Given the description of an element on the screen output the (x, y) to click on. 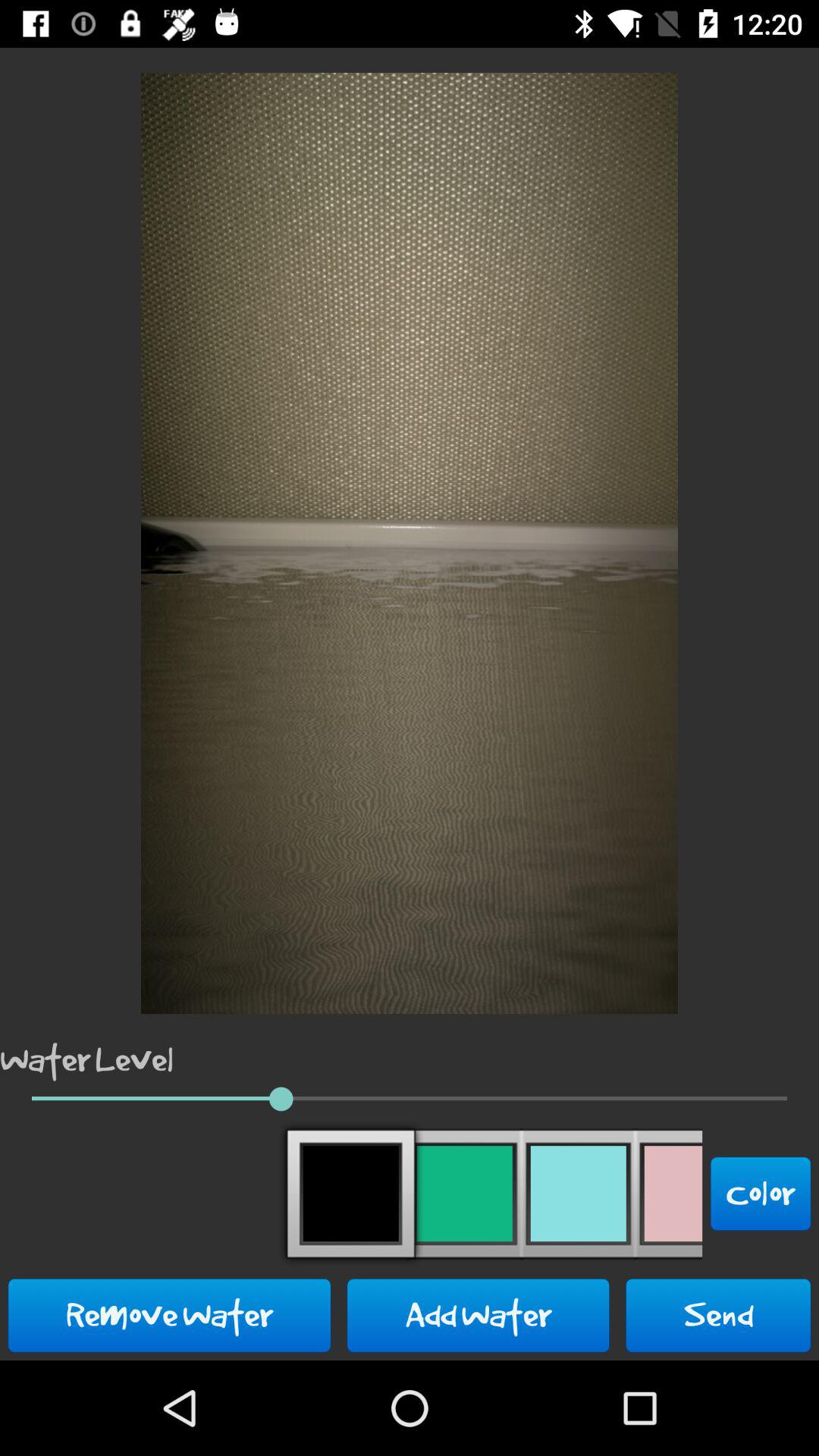
click the icon to the left of add water button (169, 1315)
